Given the description of an element on the screen output the (x, y) to click on. 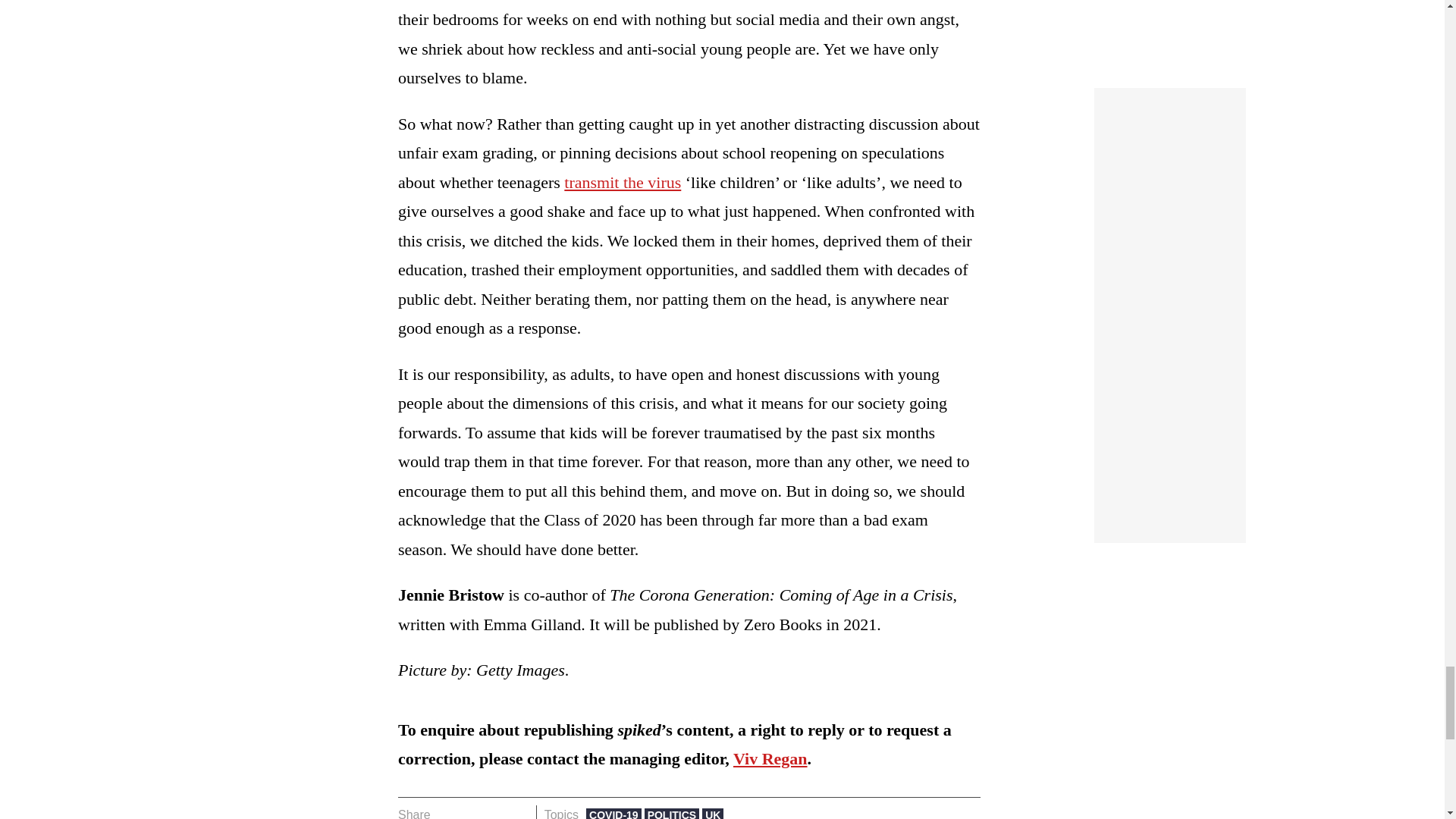
Share on Email (518, 812)
Share on Whatsapp (494, 812)
Share on Facebook (448, 812)
Share on Twitter (471, 812)
